Given the description of an element on the screen output the (x, y) to click on. 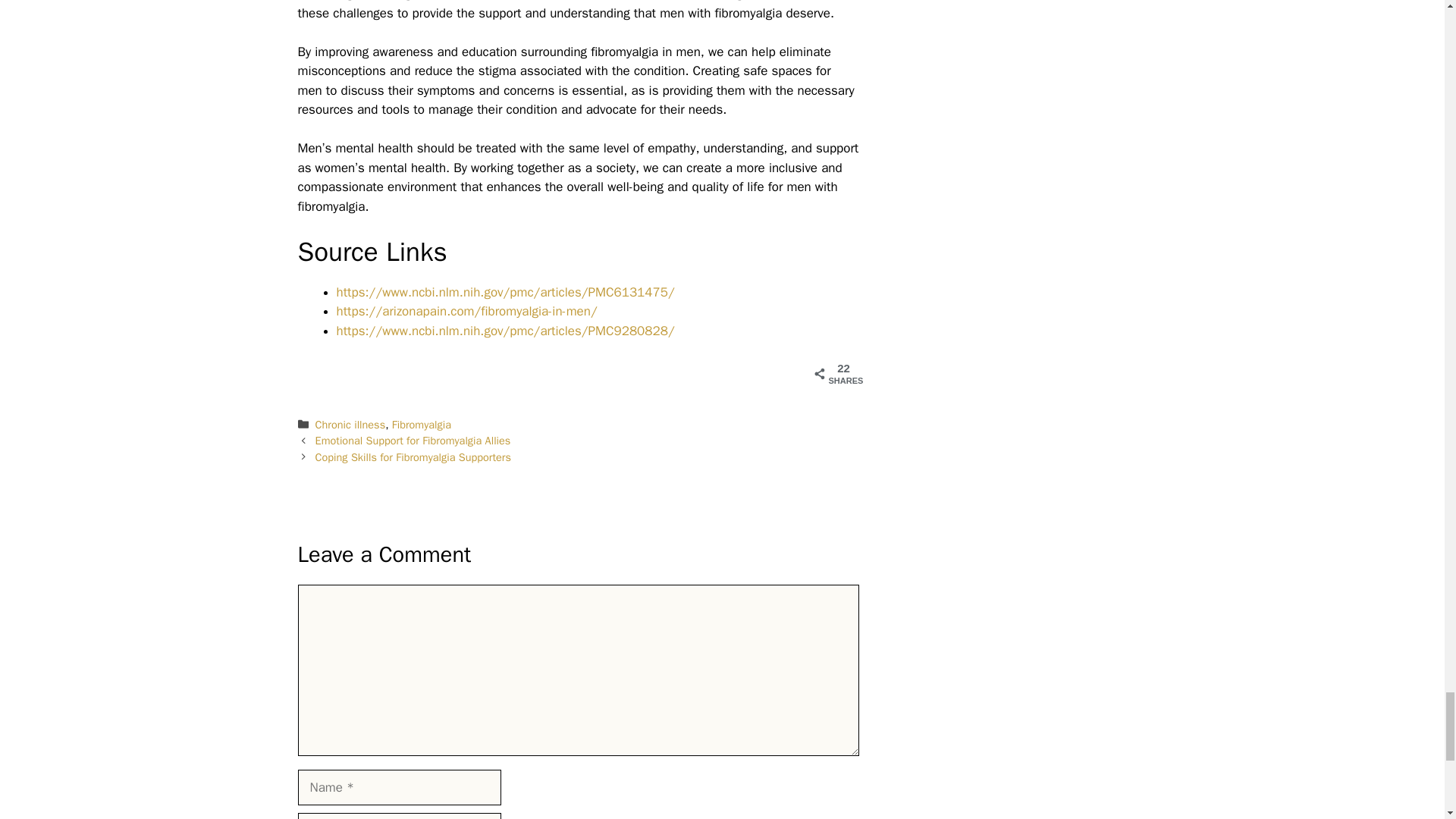
Coping Skills for Fibromyalgia Supporters (413, 457)
Fibromyalgia (421, 424)
Emotional Support for Fibromyalgia Allies (413, 440)
Chronic illness (350, 424)
